Given the description of an element on the screen output the (x, y) to click on. 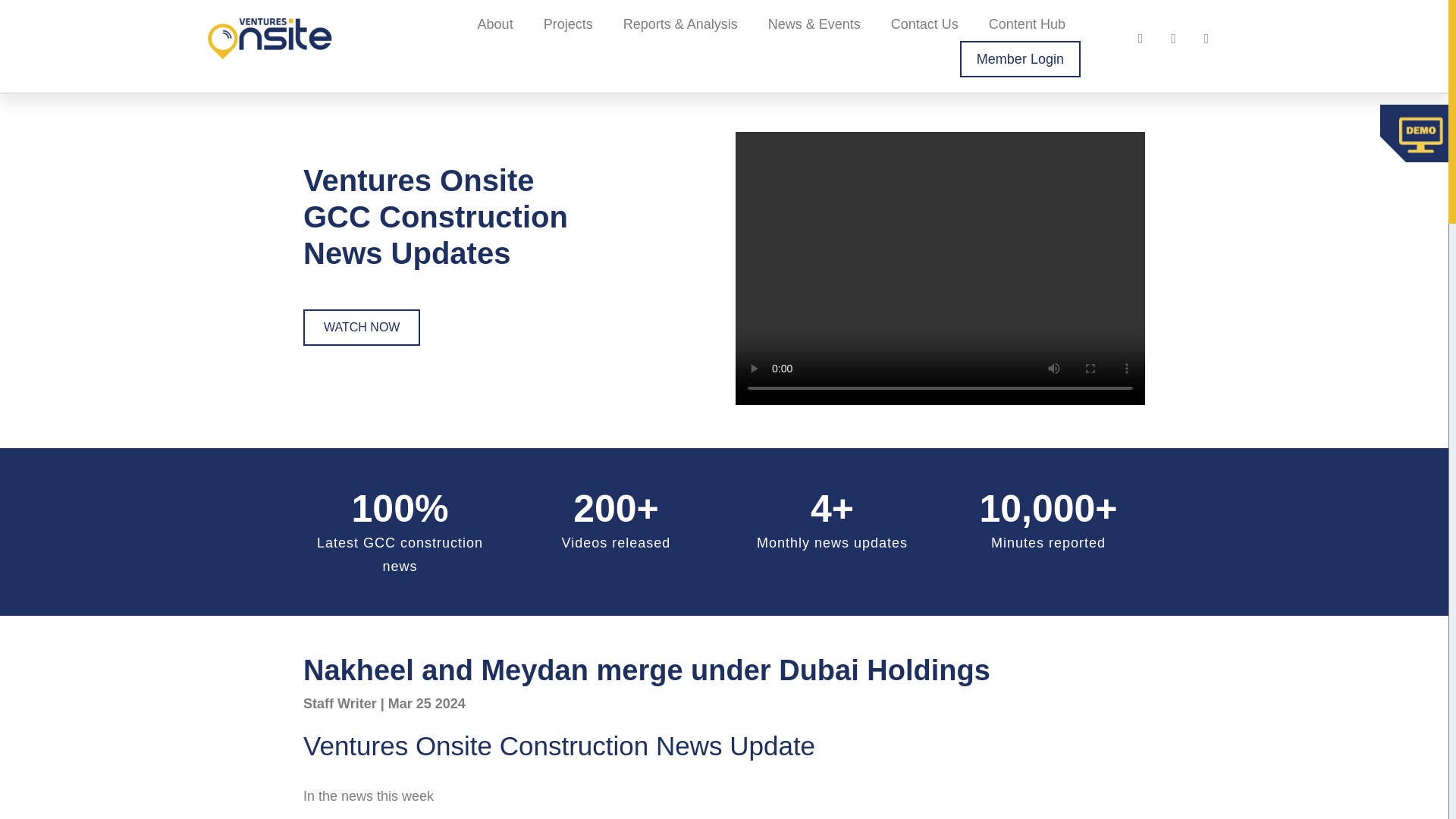
Projects (568, 23)
Member Login (1019, 59)
About (495, 23)
Content Hub (1027, 23)
Contact Us (925, 23)
